Given the description of an element on the screen output the (x, y) to click on. 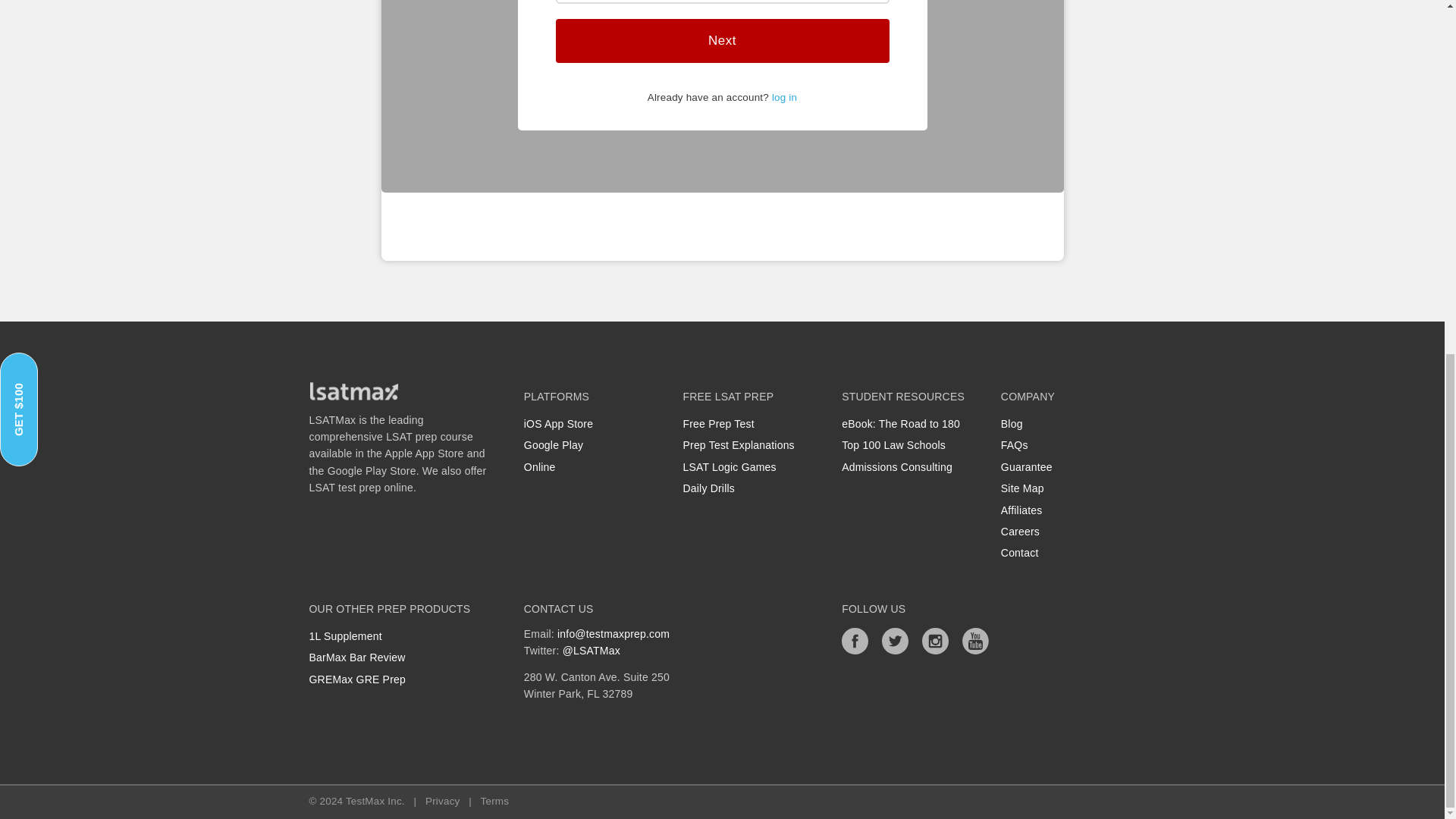
log in (783, 97)
Next (721, 40)
Next (721, 40)
